Given the description of an element on the screen output the (x, y) to click on. 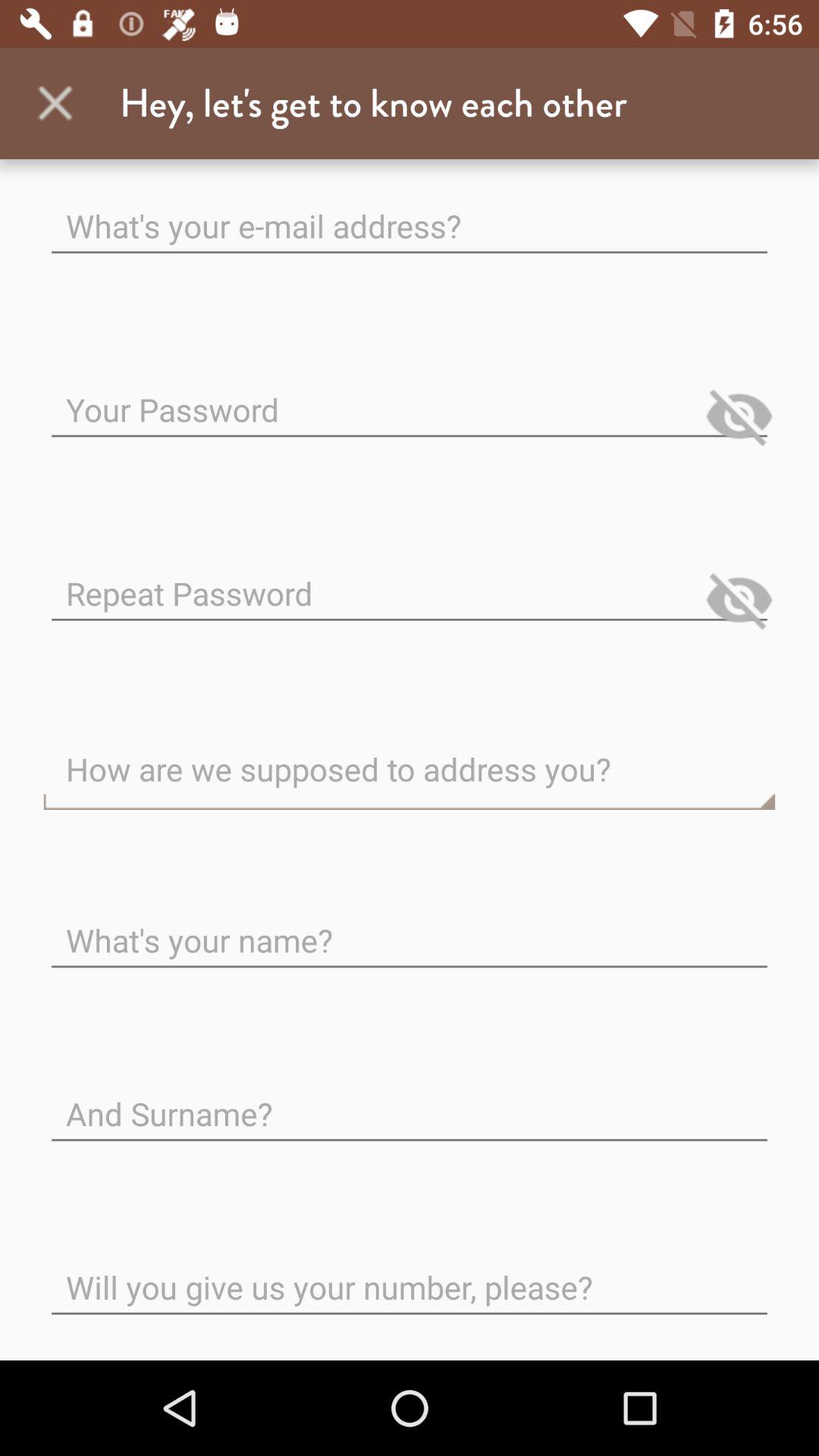
type your number (409, 1275)
